Given the description of an element on the screen output the (x, y) to click on. 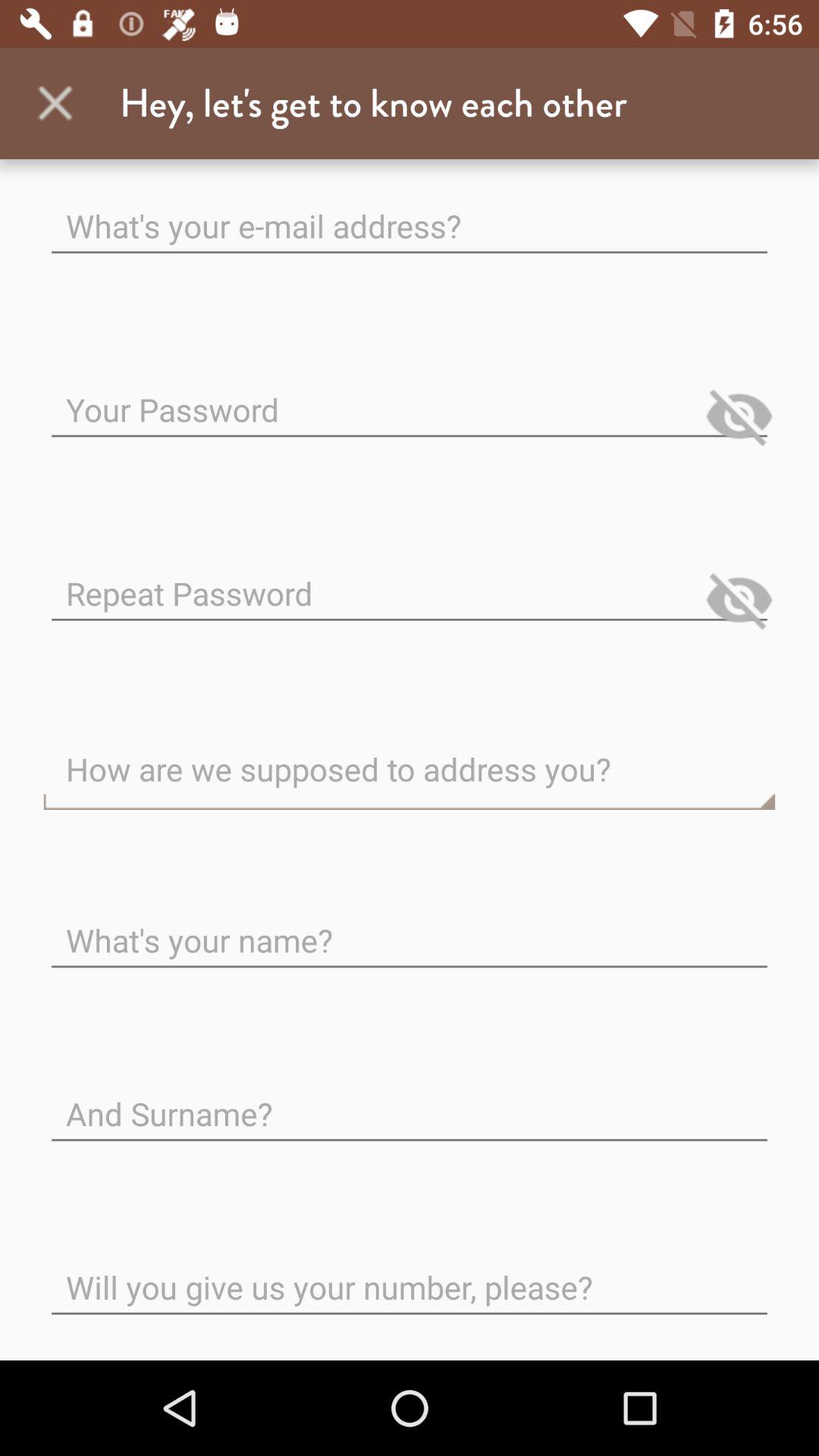
type your number (409, 1275)
